Given the description of an element on the screen output the (x, y) to click on. 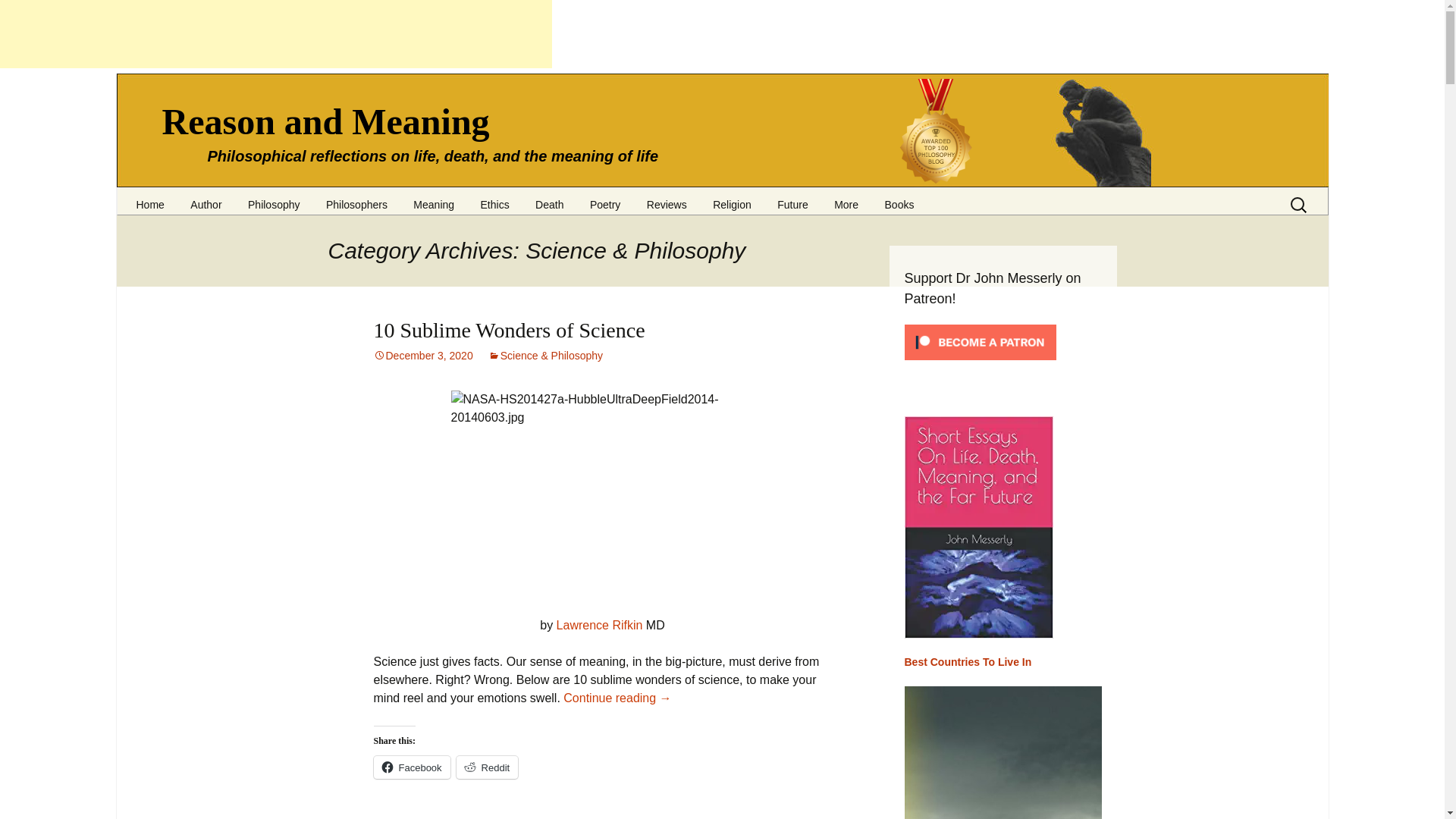
Author (205, 199)
Home (148, 199)
Advertisement (275, 33)
Permalink to 10 Sublime Wonders of Science (421, 355)
Click to share on Facebook (410, 766)
Click to share on Reddit (487, 766)
How To Help (254, 221)
Advertisement (601, 803)
